Given the description of an element on the screen output the (x, y) to click on. 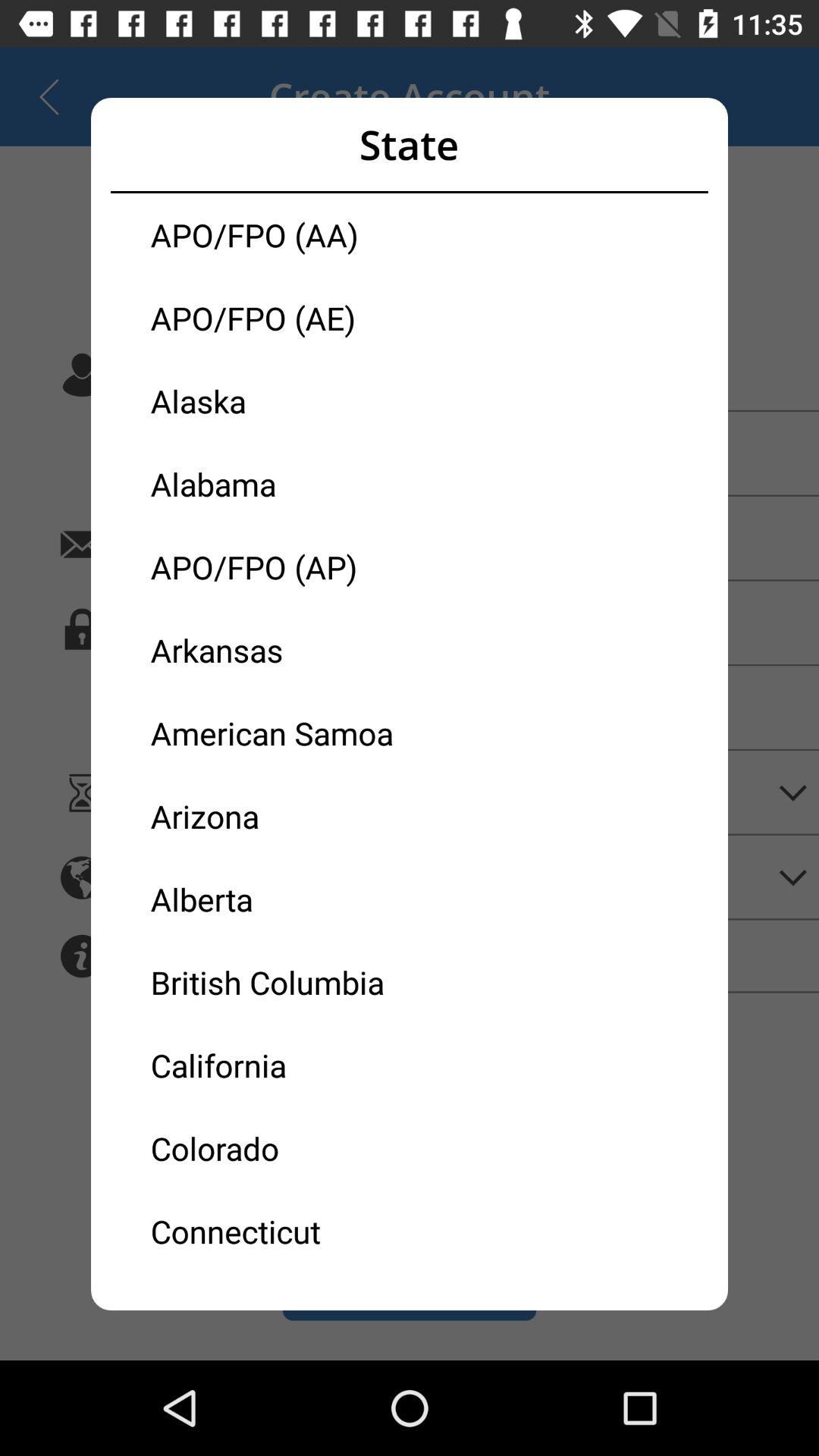
press the item below the alaska icon (279, 483)
